Given the description of an element on the screen output the (x, y) to click on. 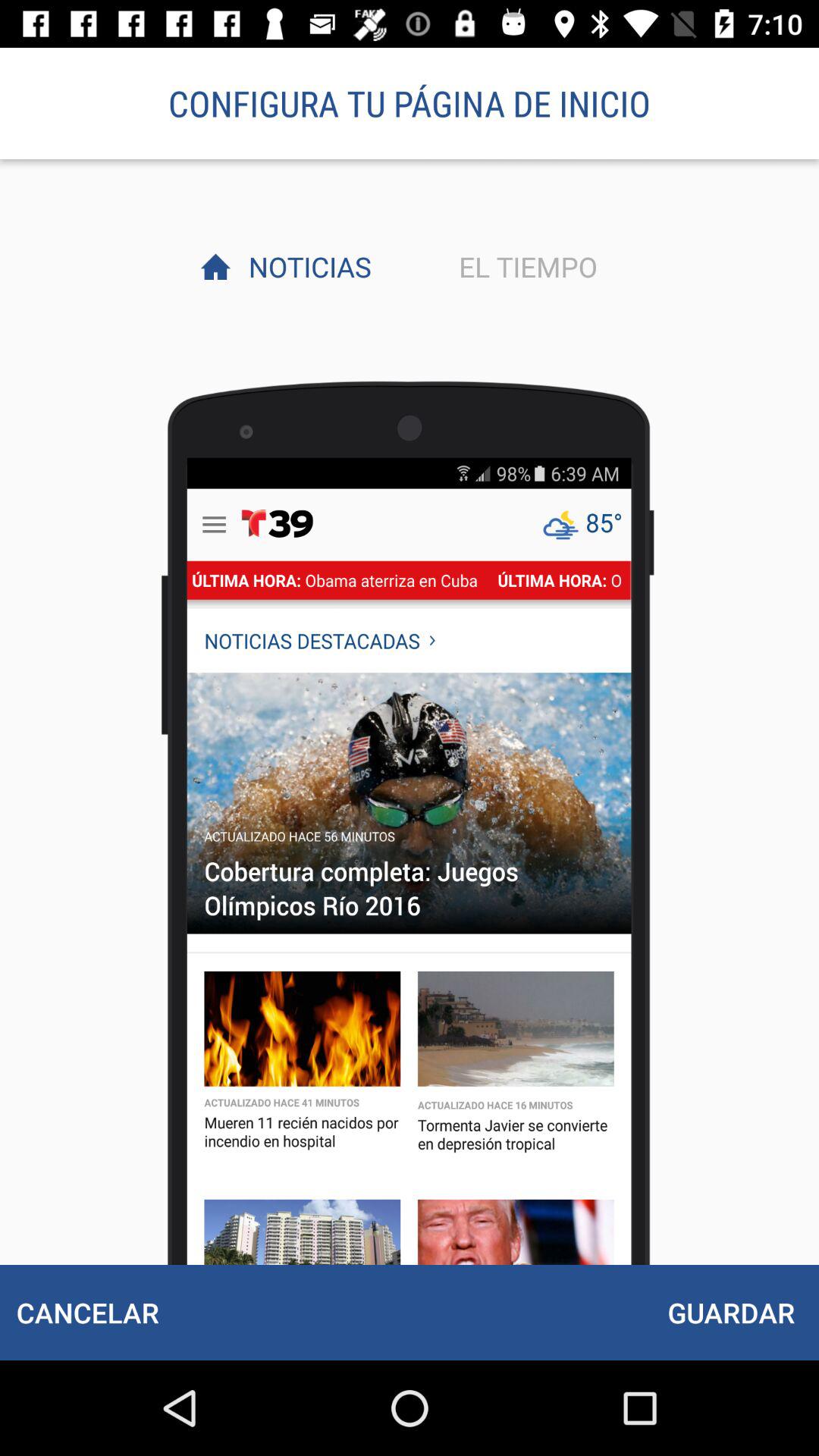
turn on item to the left of the el tiempo icon (305, 266)
